Given the description of an element on the screen output the (x, y) to click on. 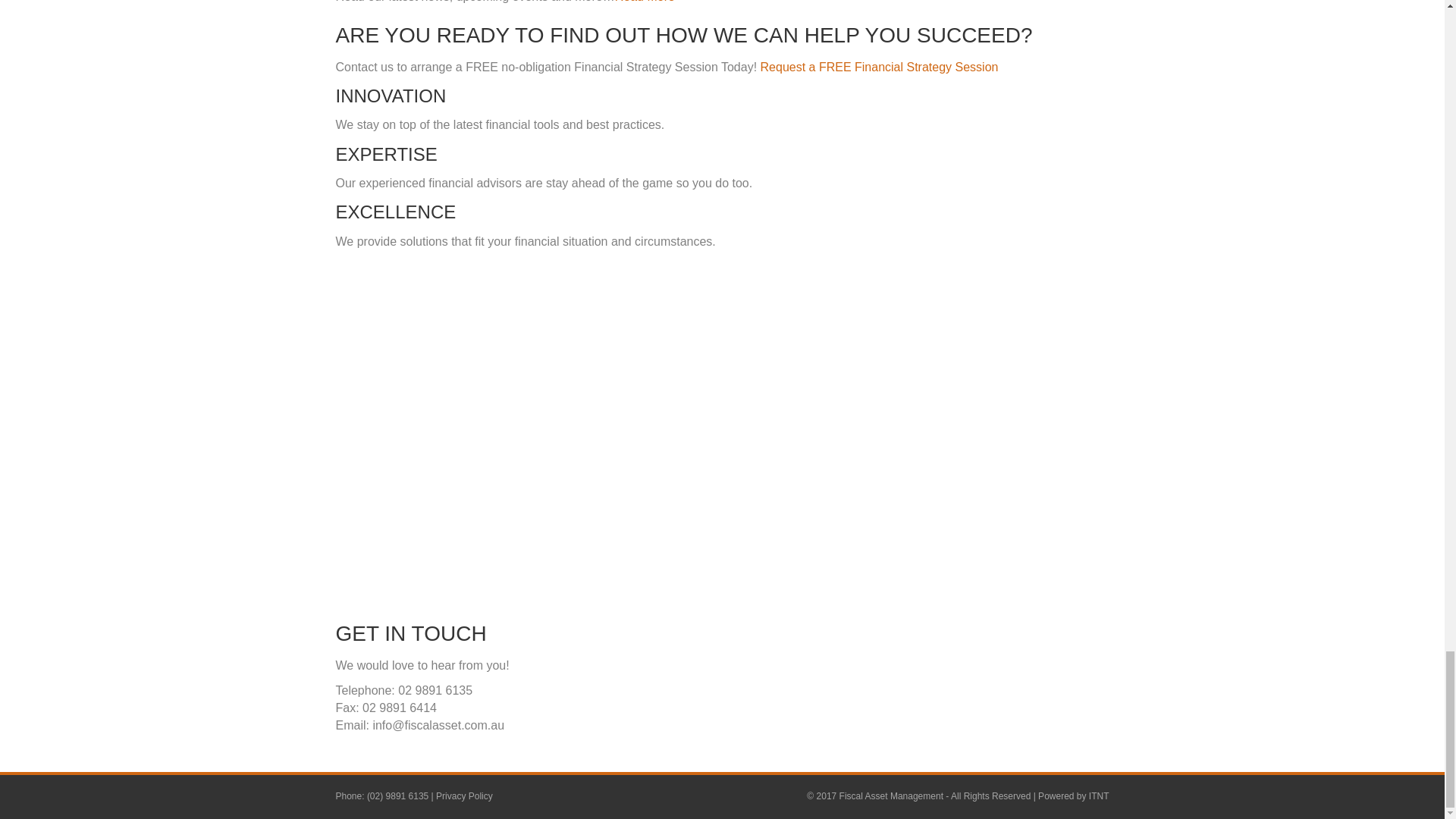
Request a FREE Financial Strategy Session (877, 66)
Read More (644, 1)
